Given the description of an element on the screen output the (x, y) to click on. 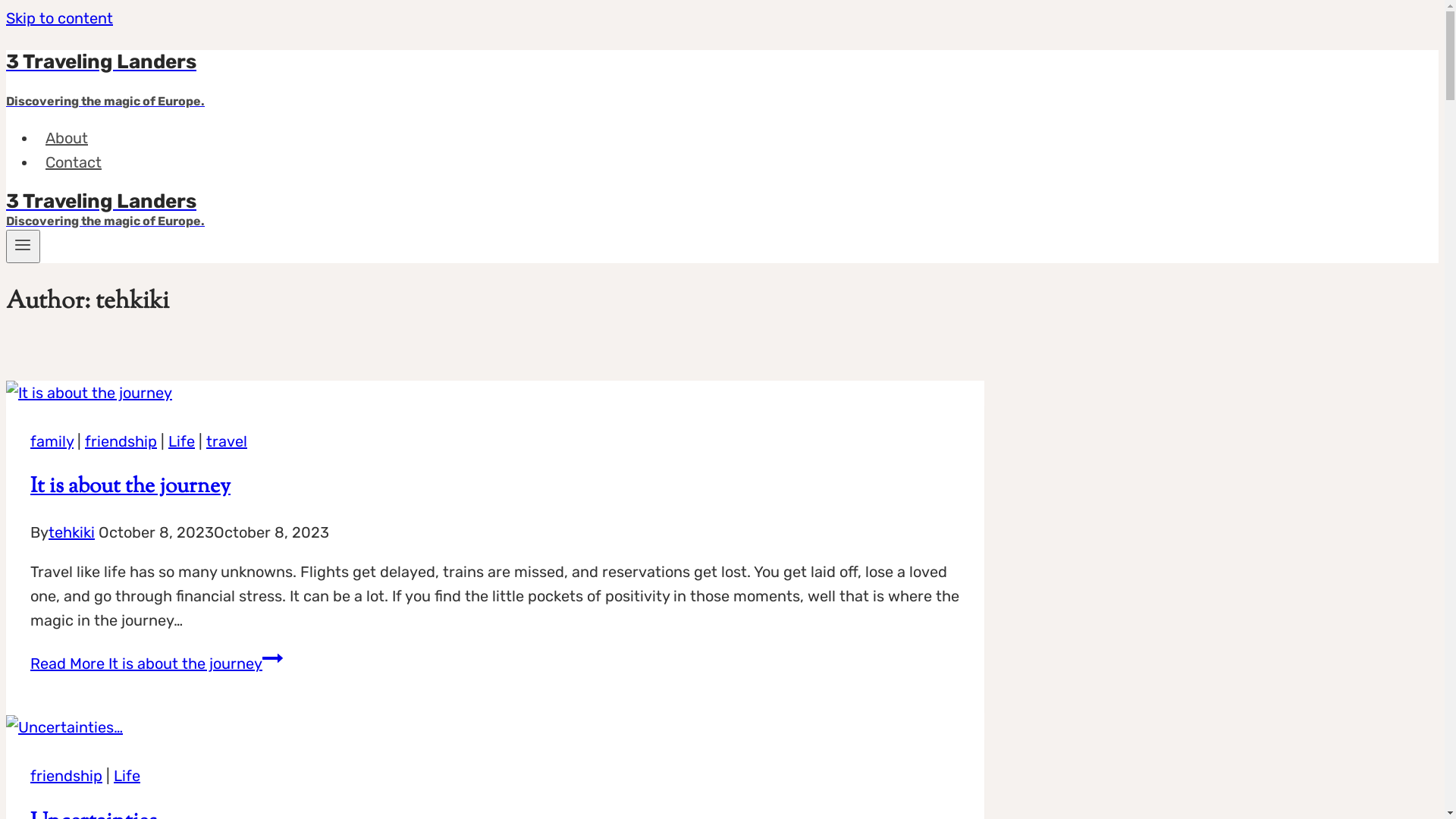
Contact Element type: text (73, 162)
tehkiki Element type: text (71, 532)
Skip to content Element type: text (59, 18)
travel Element type: text (226, 441)
3 Traveling Landers
Discovering the magic of Europe. Element type: text (495, 209)
About Element type: text (66, 137)
Toggle Menu Element type: text (23, 246)
Life Element type: text (181, 441)
Read More It is about the journeyContinue Element type: text (156, 663)
Life Element type: text (126, 775)
3 Traveling Landers
Discovering the magic of Europe. Element type: text (495, 80)
family Element type: text (51, 441)
It is about the journey Element type: text (130, 486)
friendship Element type: text (66, 775)
friendship Element type: text (120, 441)
